Given the description of an element on the screen output the (x, y) to click on. 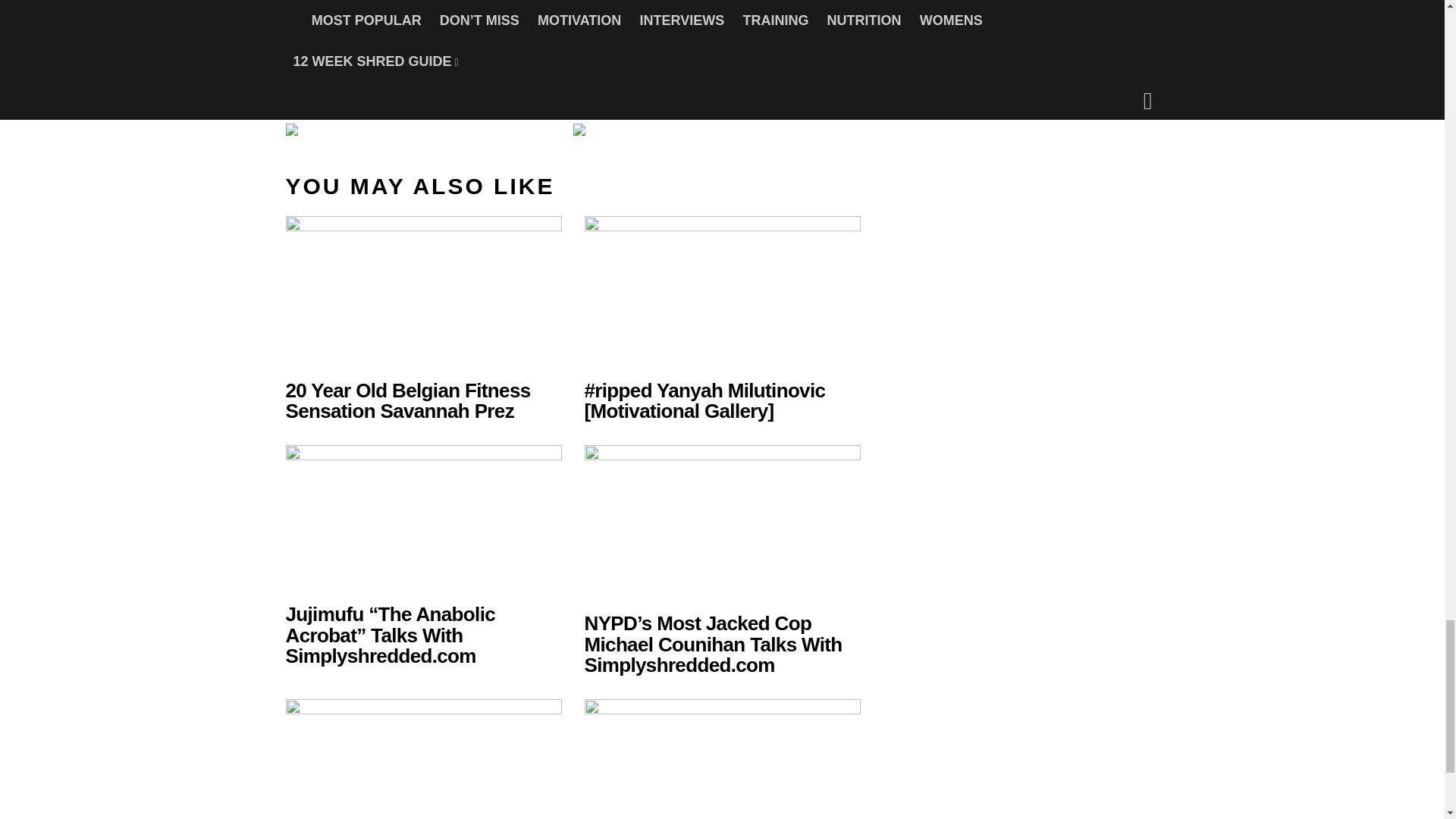
20 Year Old Belgian Fitness Sensation Savannah Prez (407, 401)
